Given the description of an element on the screen output the (x, y) to click on. 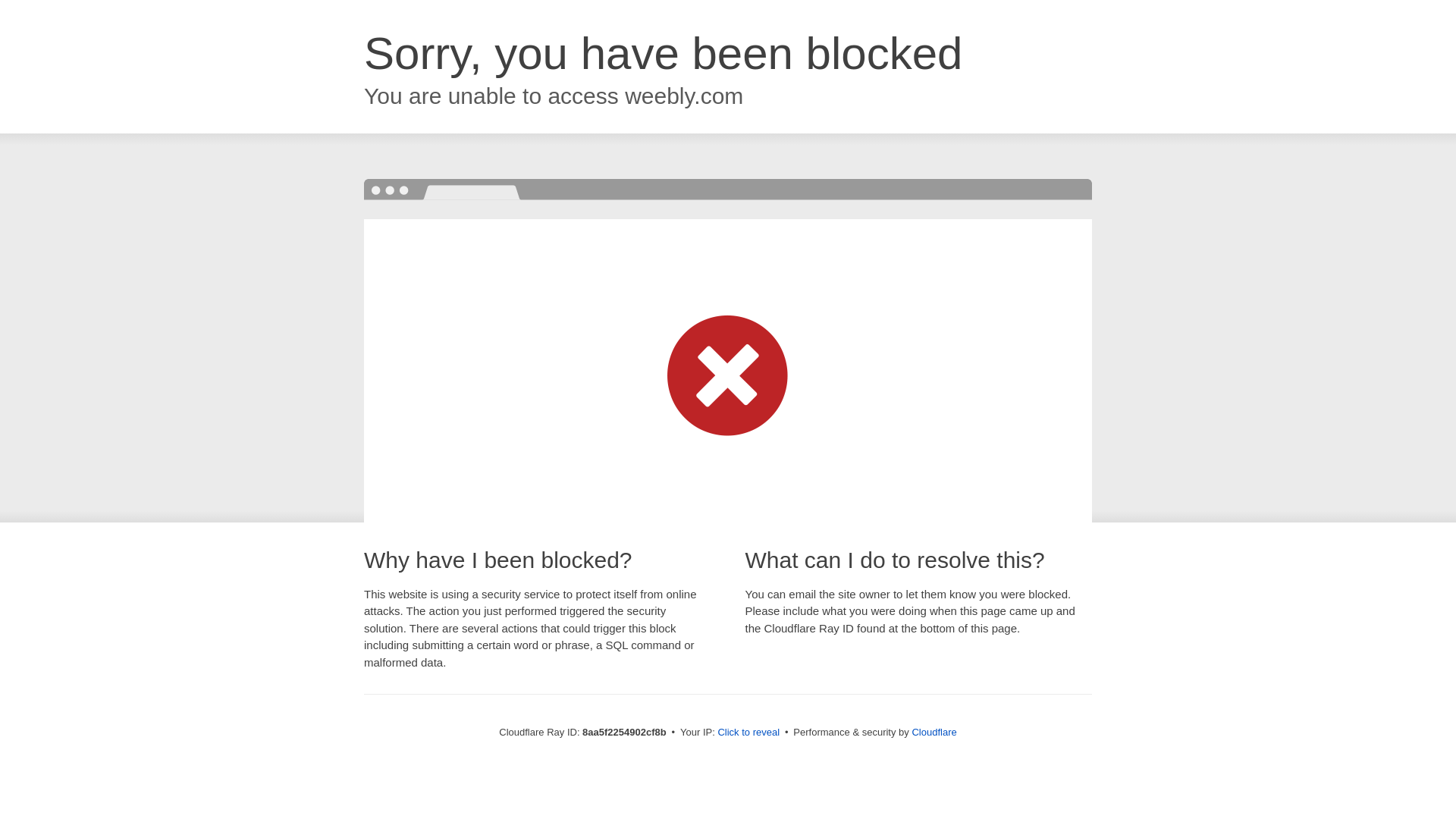
Click to reveal (747, 732)
Cloudflare (933, 731)
